Given the description of an element on the screen output the (x, y) to click on. 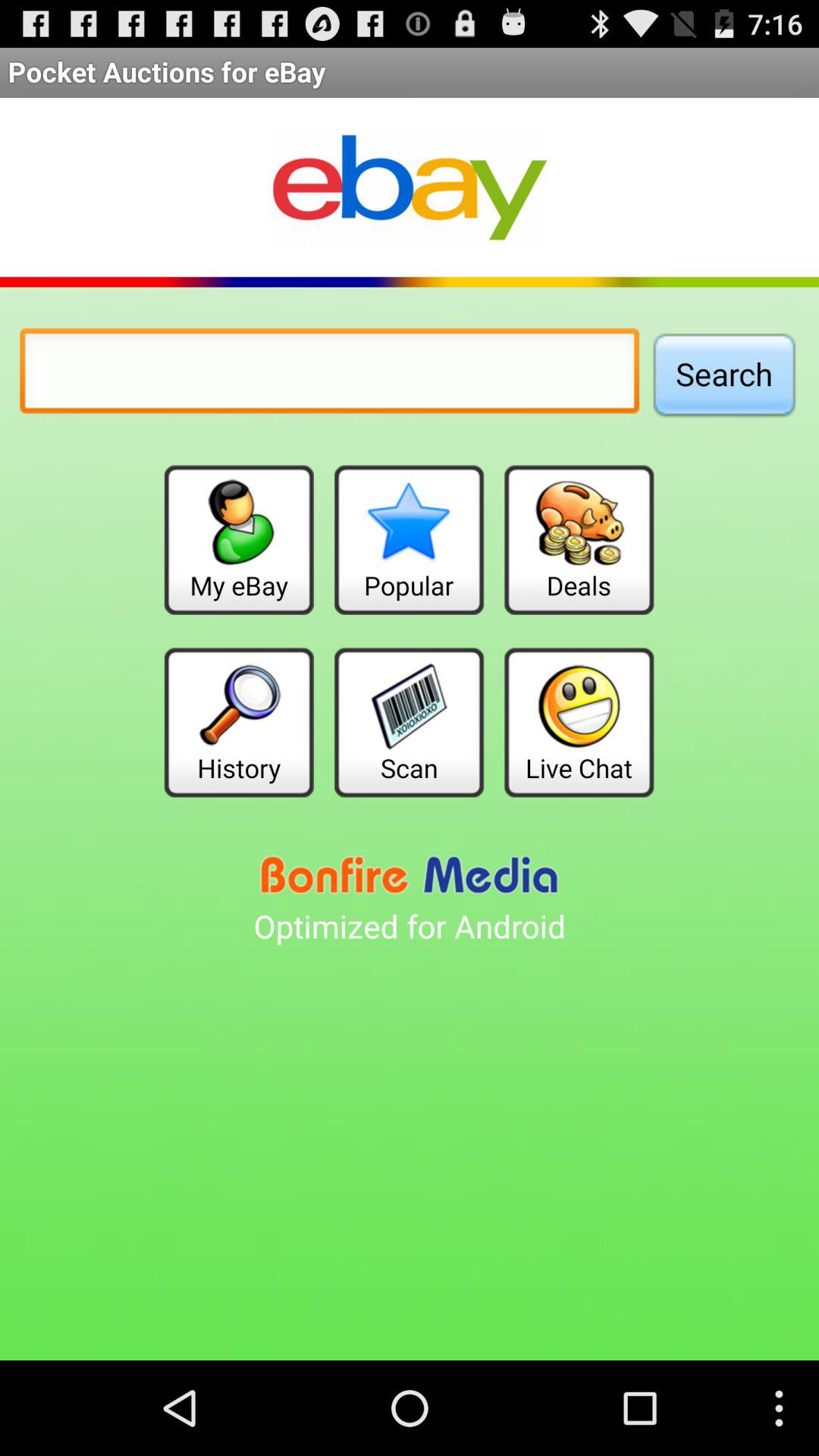
launch item next to the deals button (409, 539)
